Given the description of an element on the screen output the (x, y) to click on. 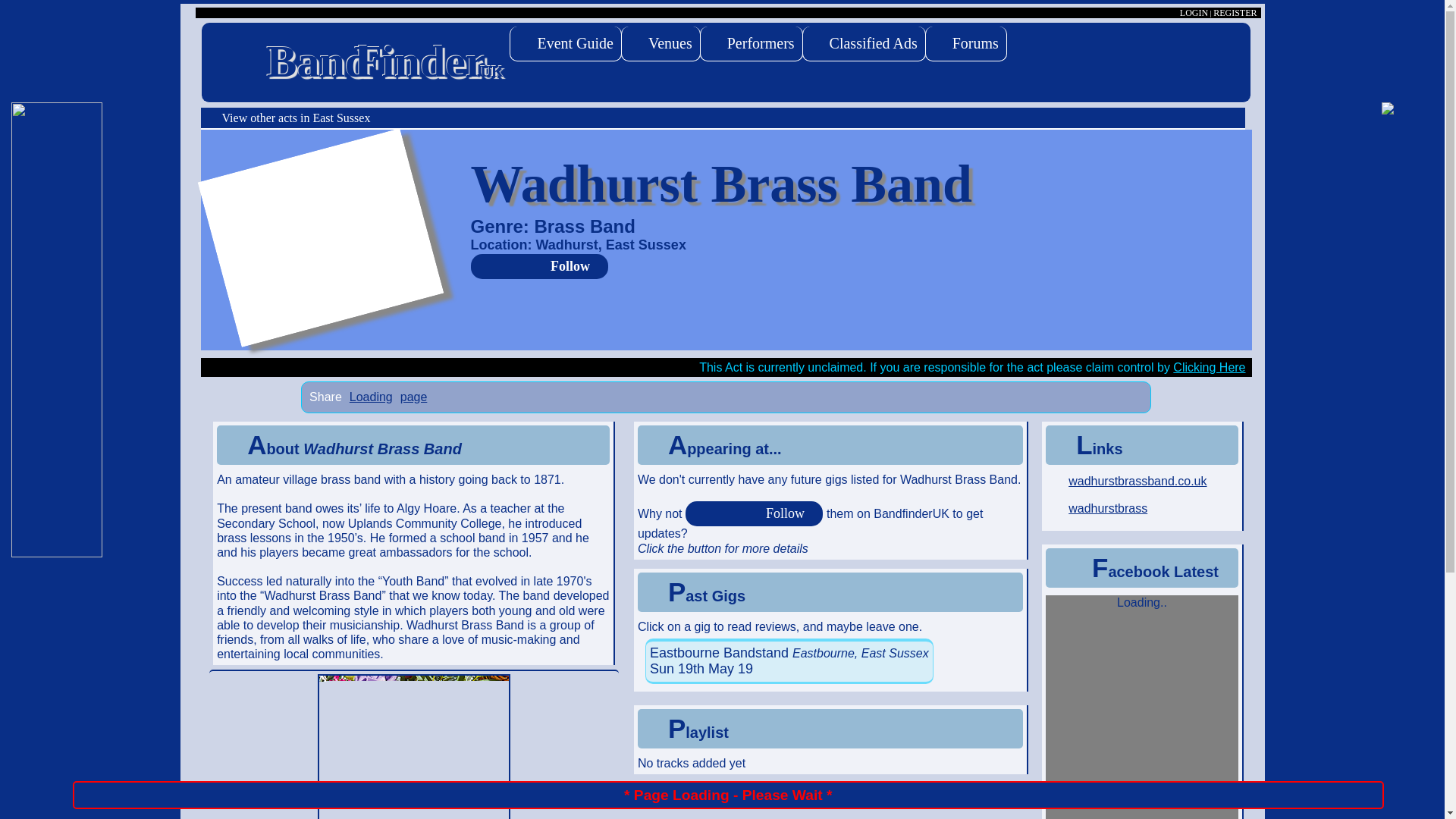
Classified Ads (864, 43)
How to Follow an Act (540, 266)
Have your say on Everything Music related (965, 43)
Venues (660, 43)
View other acts in East Sussex (725, 117)
Live music related items for Sale (864, 43)
Forums (965, 43)
wadhurstbrassband.co.uk (1142, 483)
Loading (371, 396)
Performers (751, 43)
